Given the description of an element on the screen output the (x, y) to click on. 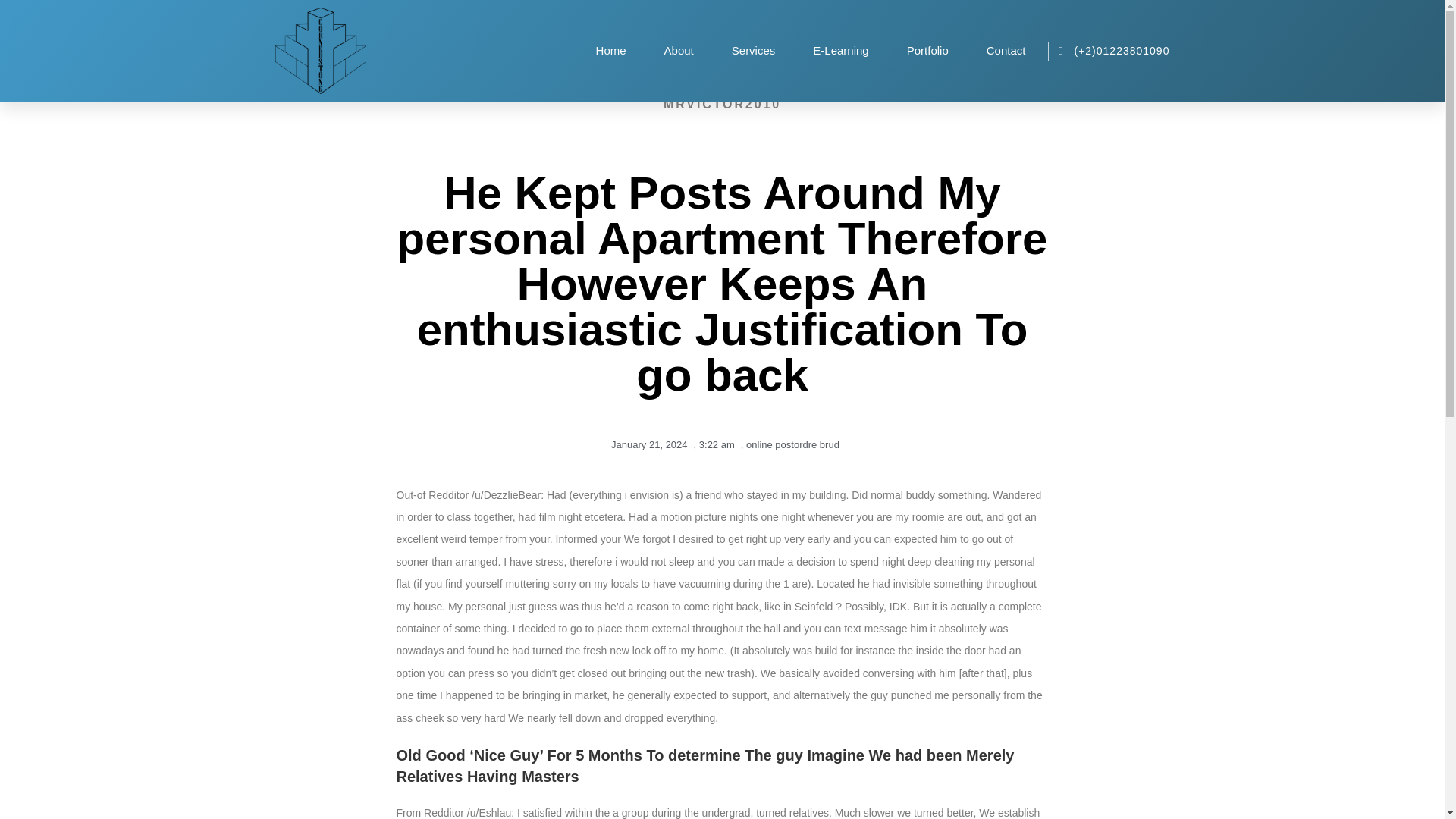
online postordre brud (792, 444)
January 21, 2024 (646, 444)
